Given the description of an element on the screen output the (x, y) to click on. 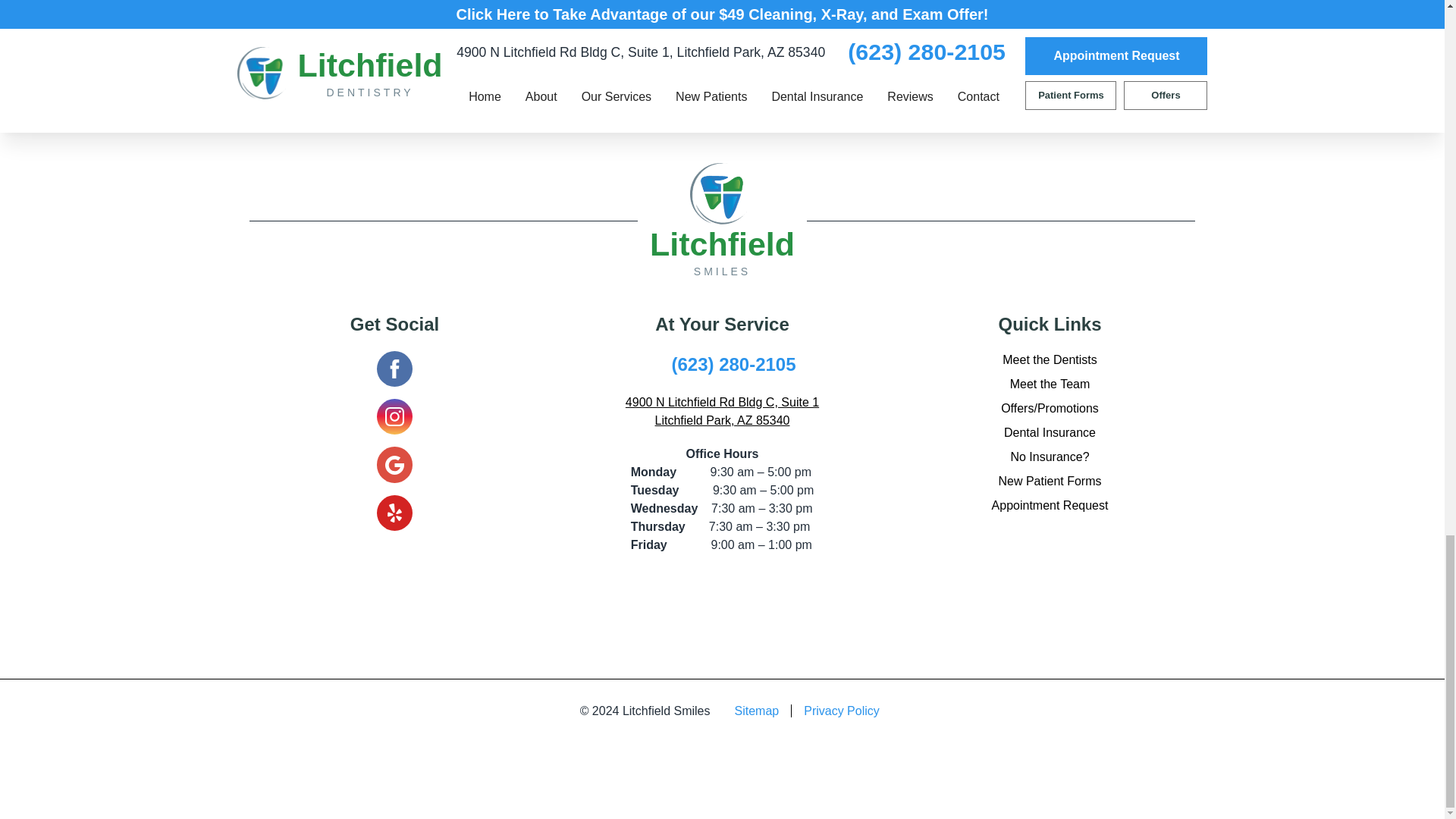
Submit (974, 25)
